Given the description of an element on the screen output the (x, y) to click on. 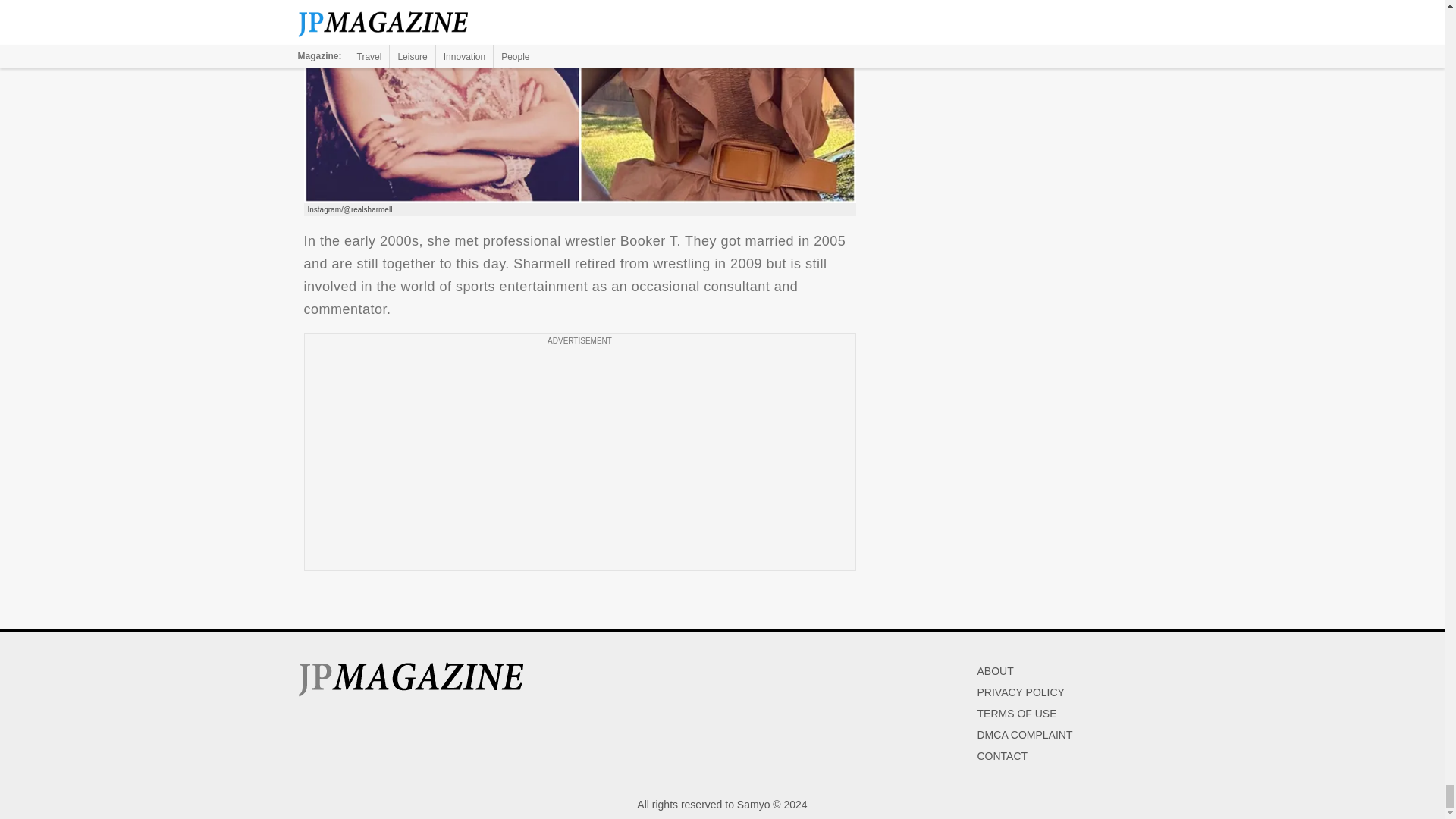
TERMS OF USE (1016, 713)
CONTACT (1001, 756)
DMCA COMPLAINT (1023, 734)
PRIVACY POLICY (1020, 692)
ABOUT (994, 671)
